Given the description of an element on the screen output the (x, y) to click on. 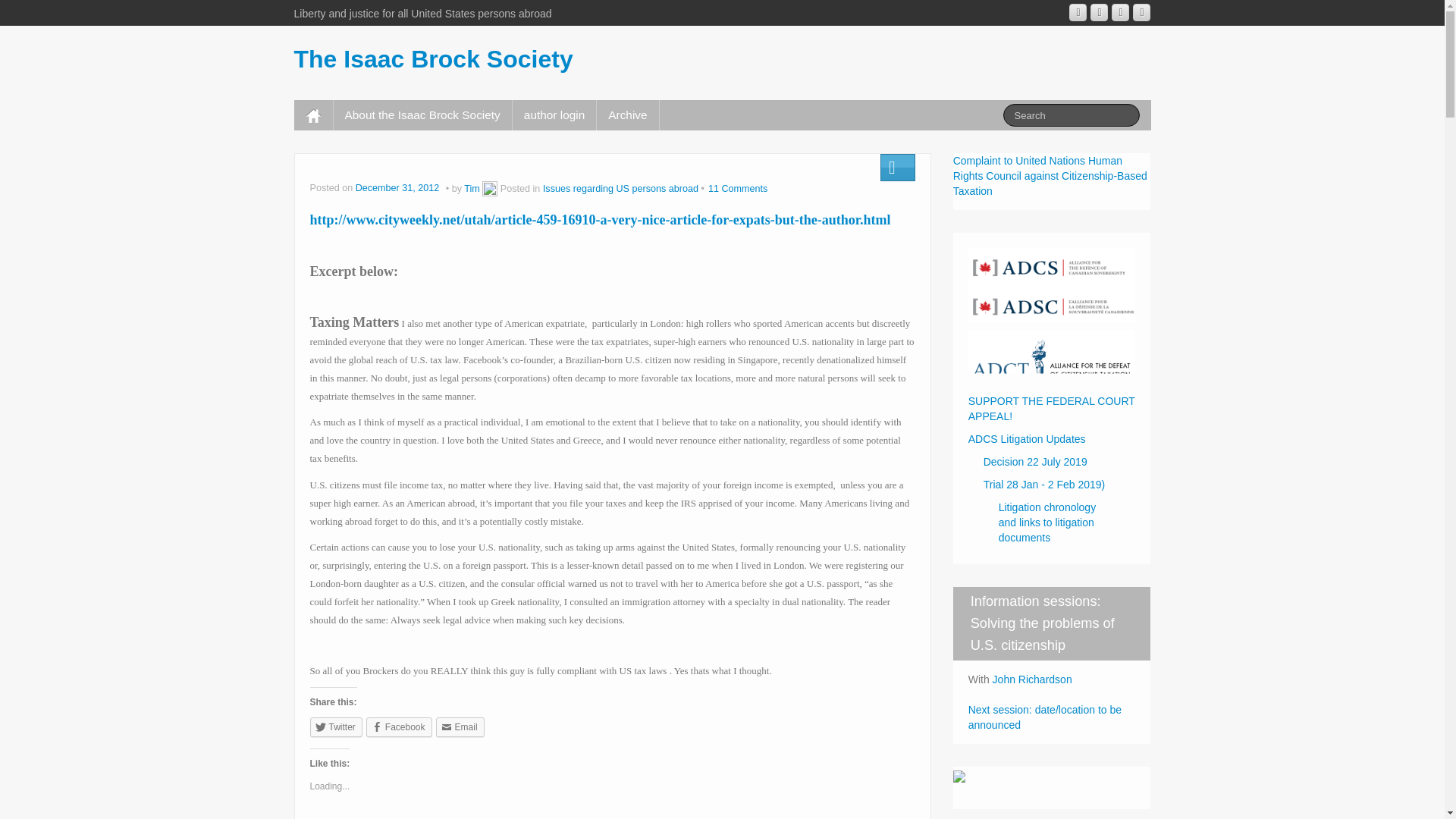
About the Isaac Brock Society (422, 114)
View all posts by Tim (472, 188)
Facebook (399, 727)
View all posts by Tim (489, 188)
Email (459, 727)
The Isaac Brock Society Facebook (1099, 12)
Tim (472, 188)
The Isaac Brock Society Twitter (1141, 12)
Share on Facebook (399, 727)
Issues regarding US persons abroad (620, 188)
ADCT (1051, 357)
The Isaac Brock Society Vimeo (1120, 12)
December 31, 2012 (398, 188)
The Isaac Brock Society (433, 58)
12:46 pm (398, 188)
